Given the description of an element on the screen output the (x, y) to click on. 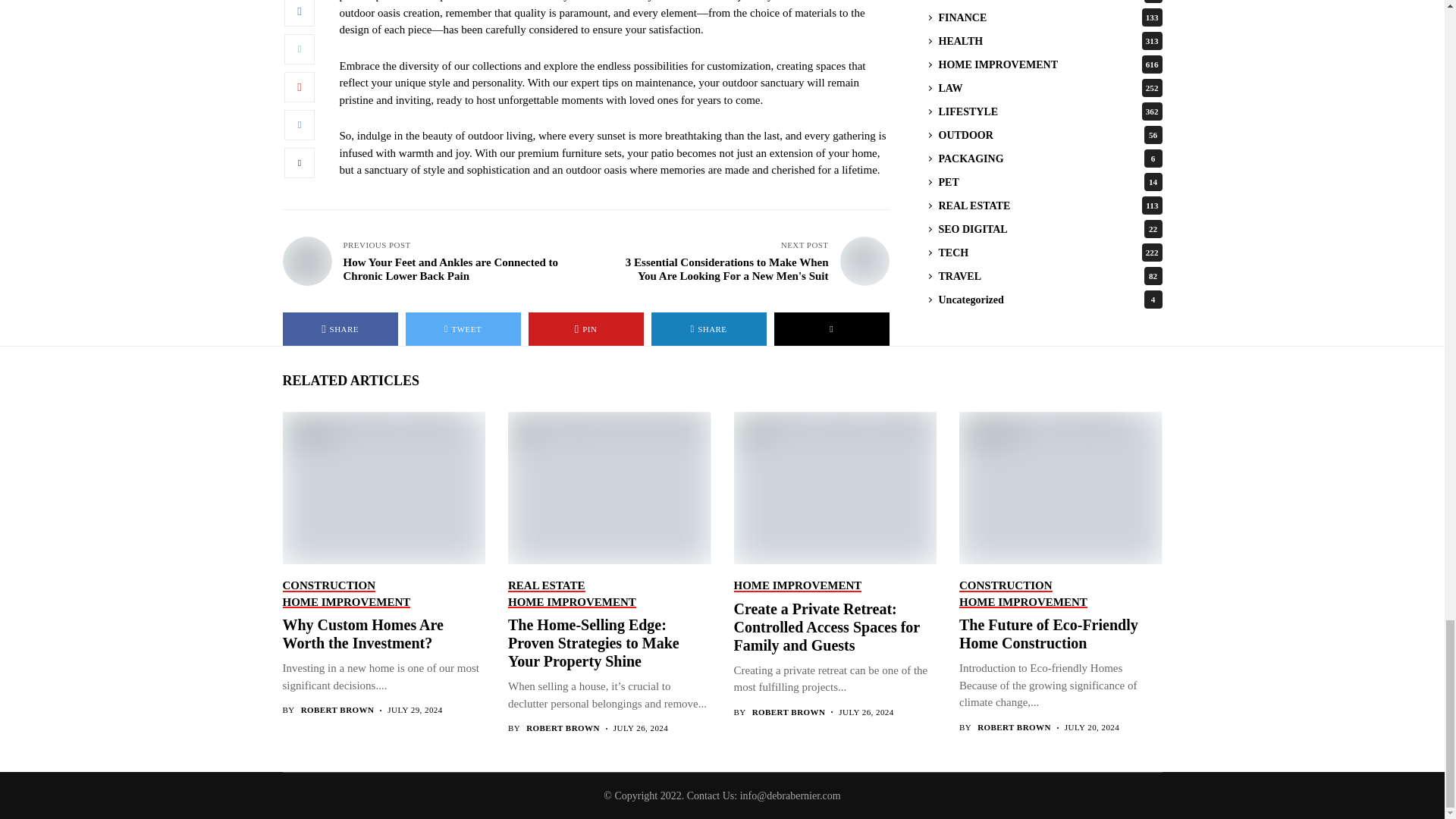
Posts by Robert Brown (562, 728)
Posts by Robert Brown (788, 712)
Posts by Robert Brown (337, 709)
Posts by Robert Brown (1013, 727)
